Given the description of an element on the screen output the (x, y) to click on. 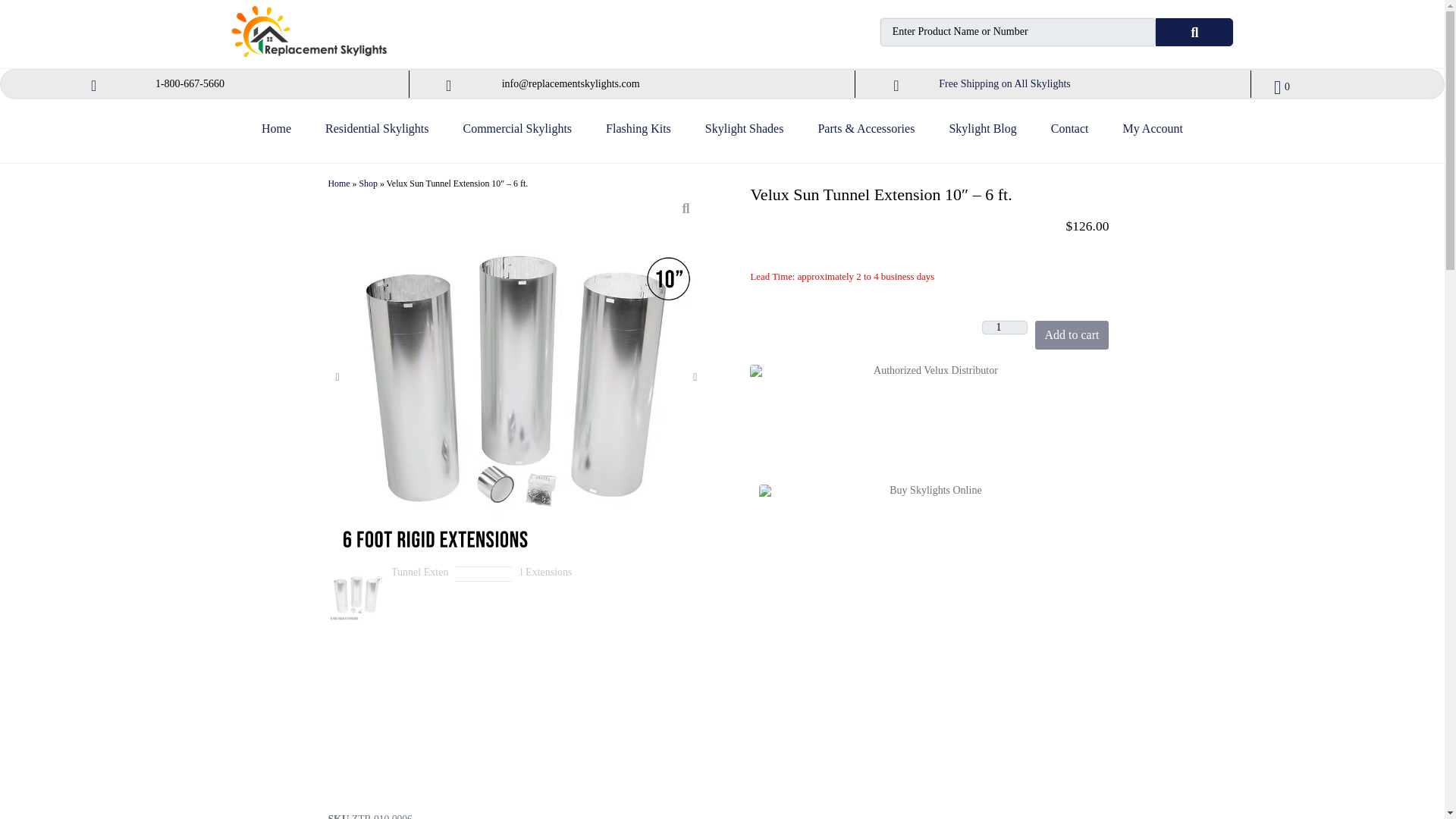
Velux Sun Tunnel Extensions ZTR 010 0006 (355, 594)
Home (276, 135)
1 (1003, 327)
1-800-667-5660 (189, 83)
Commercial Skylights (517, 135)
Velux Rigid 6 Foot Extension Tube (419, 594)
Residential Skylights (376, 135)
Velux Rigid Sun Tunnel Extension Tube (547, 594)
Velux ZTR Rigid Extension for Sun Tunnels (485, 594)
